Given the description of an element on the screen output the (x, y) to click on. 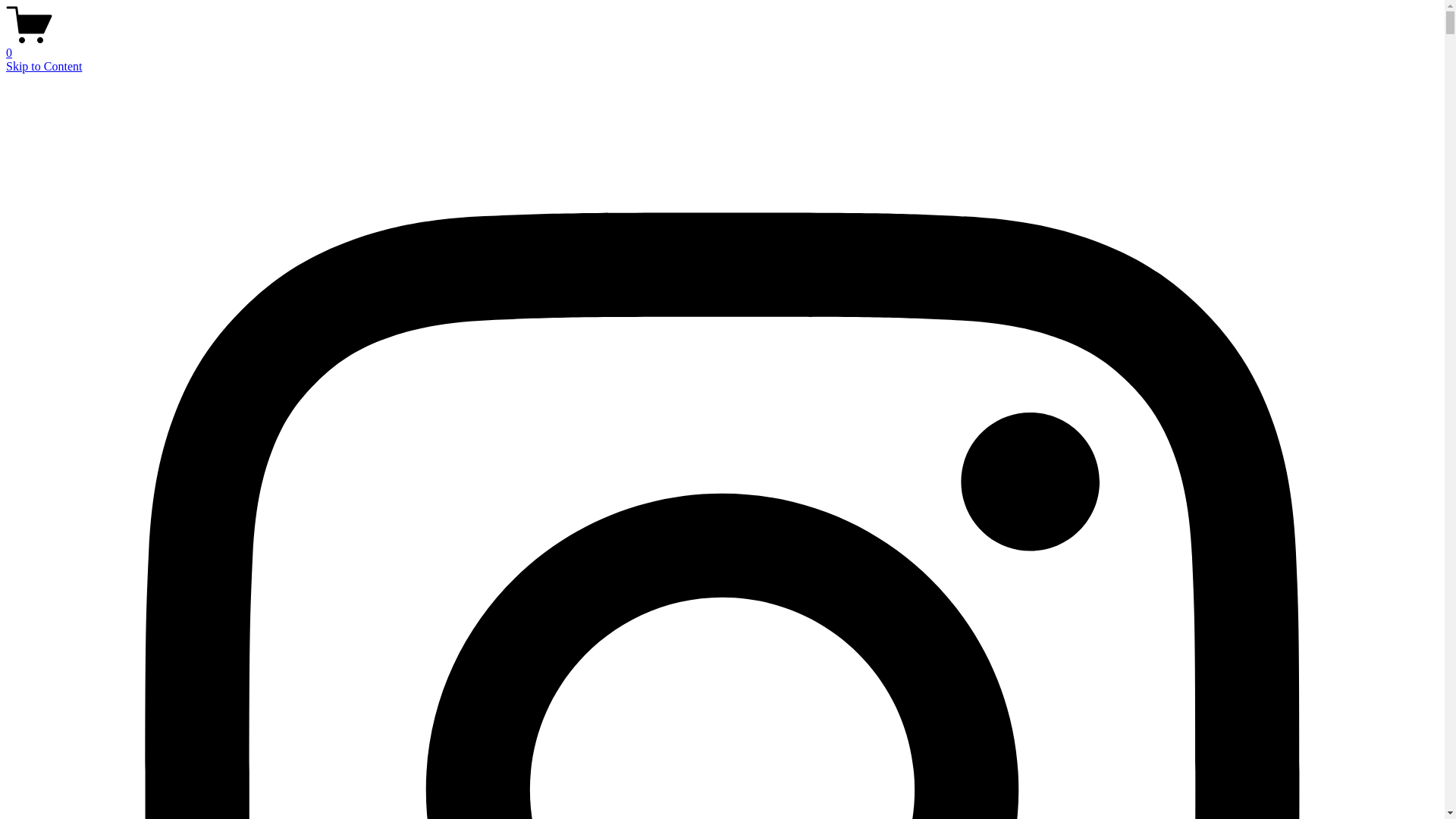
0 Element type: text (722, 45)
Skip to Content Element type: text (43, 65)
